Given the description of an element on the screen output the (x, y) to click on. 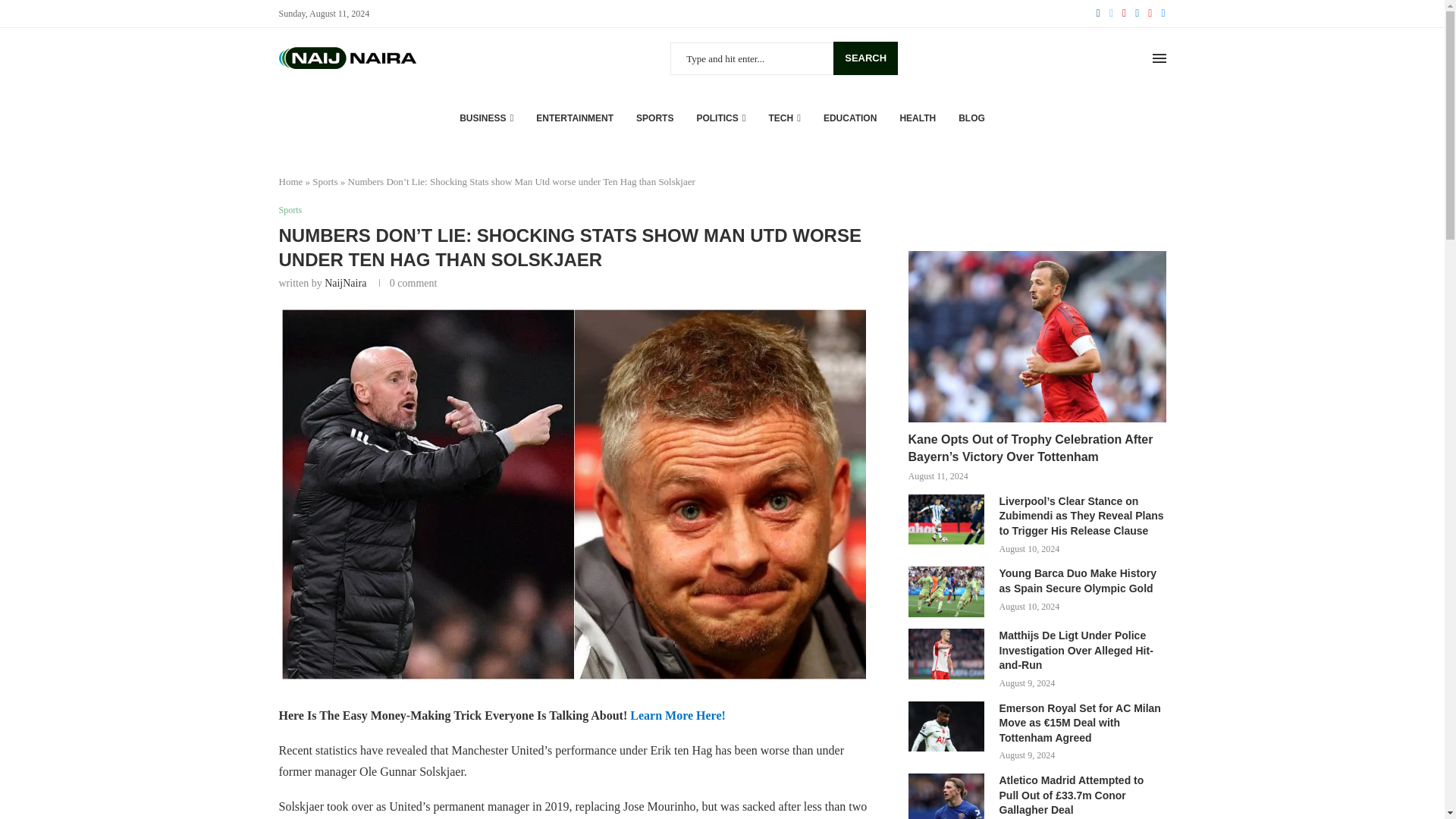
BUSINESS (486, 118)
POLITICS (720, 118)
SEARCH (865, 57)
EDUCATION (850, 118)
Young Barca Duo Make History as Spain Secure Olympic Gold (946, 591)
ENTERTAINMENT (573, 118)
